Given the description of an element on the screen output the (x, y) to click on. 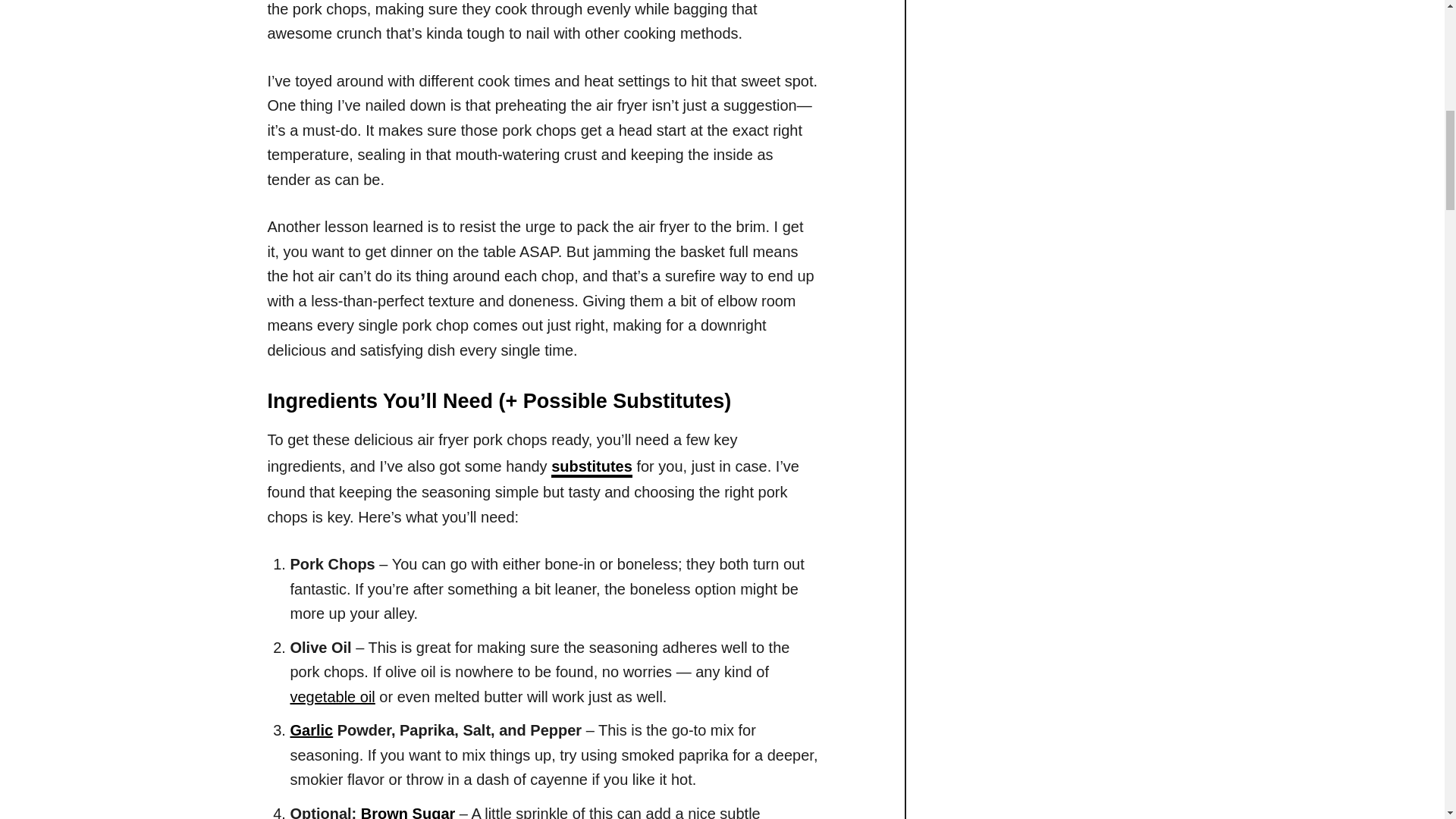
vegetable oil (331, 696)
Garlic (311, 729)
Garlic (311, 729)
substitutes (591, 467)
Brown Sugar (407, 812)
substitutes (591, 467)
vegetable oil (331, 696)
Brown Sugar (407, 812)
